Given the description of an element on the screen output the (x, y) to click on. 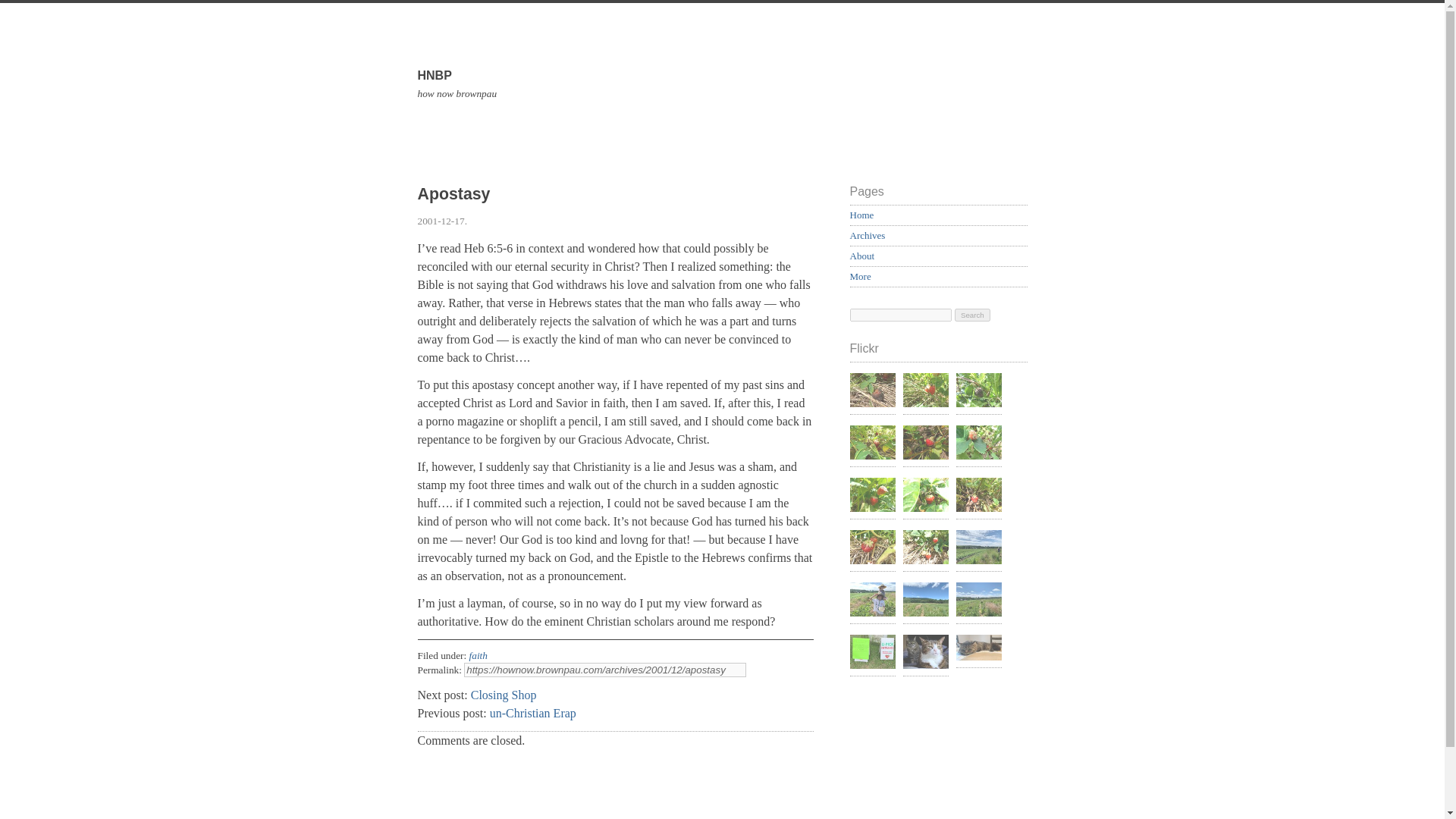
About (861, 255)
un-Christian Erap (532, 712)
Strawberry Picking, Annapolis Valley NS (978, 600)
Rotten Strawberry (871, 444)
Closing Shop (503, 694)
Strawberry Picking (978, 444)
Strawberry Picking (924, 444)
Strawberry Picking (924, 548)
Strawberry Picking (924, 392)
Rotten Strawberry (871, 392)
Strawberry Picking, Annapolis Valley NS (924, 600)
More (859, 276)
faith (477, 655)
Strawberry Picking, Annapolis Valley NS (871, 600)
Search (972, 314)
